Given the description of an element on the screen output the (x, y) to click on. 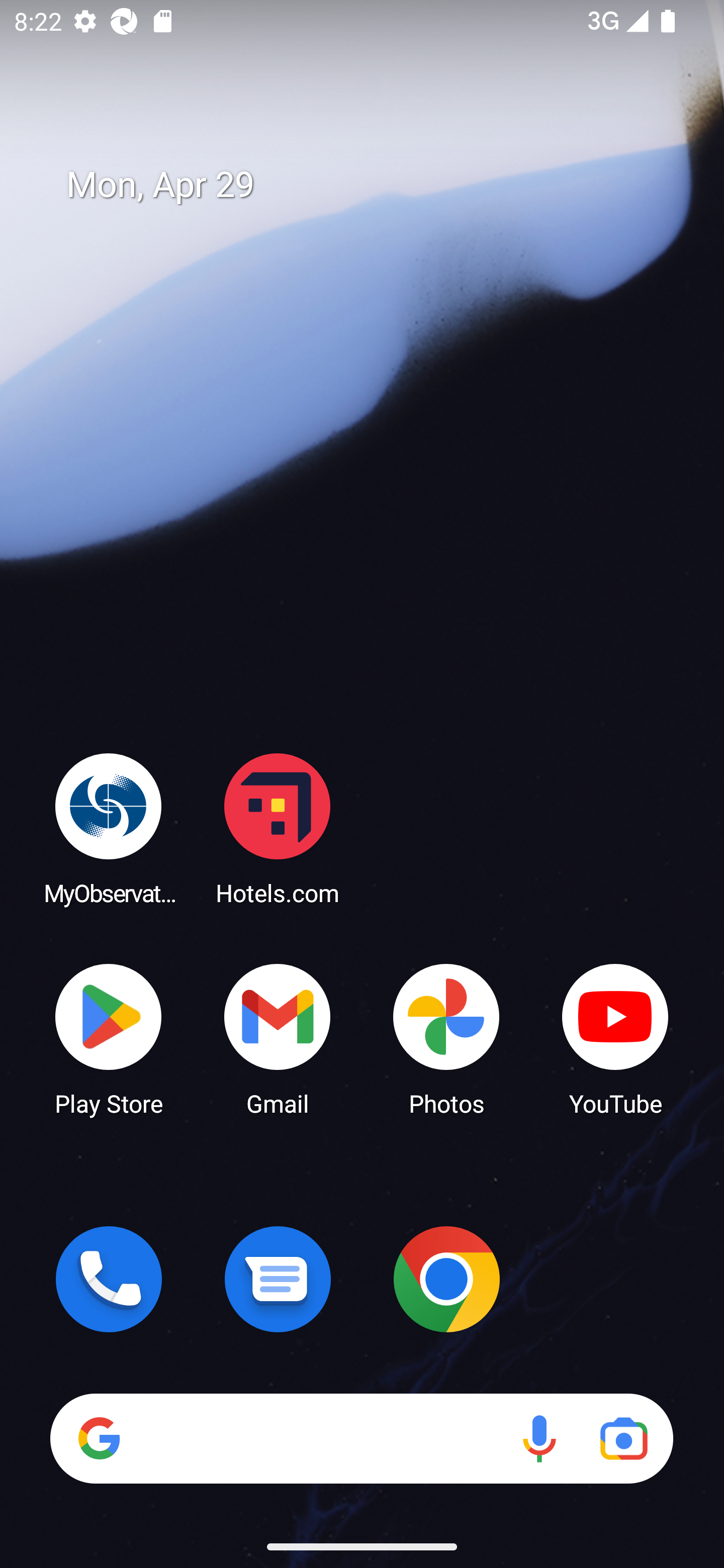
Mon, Apr 29 (375, 184)
MyObservatory (108, 828)
Hotels.com (277, 828)
Play Store (108, 1038)
Gmail (277, 1038)
Photos (445, 1038)
YouTube (615, 1038)
Phone (108, 1279)
Messages (277, 1279)
Chrome (446, 1279)
Search Voice search Google Lens (361, 1438)
Voice search (539, 1438)
Google Lens (623, 1438)
